Given the description of an element on the screen output the (x, y) to click on. 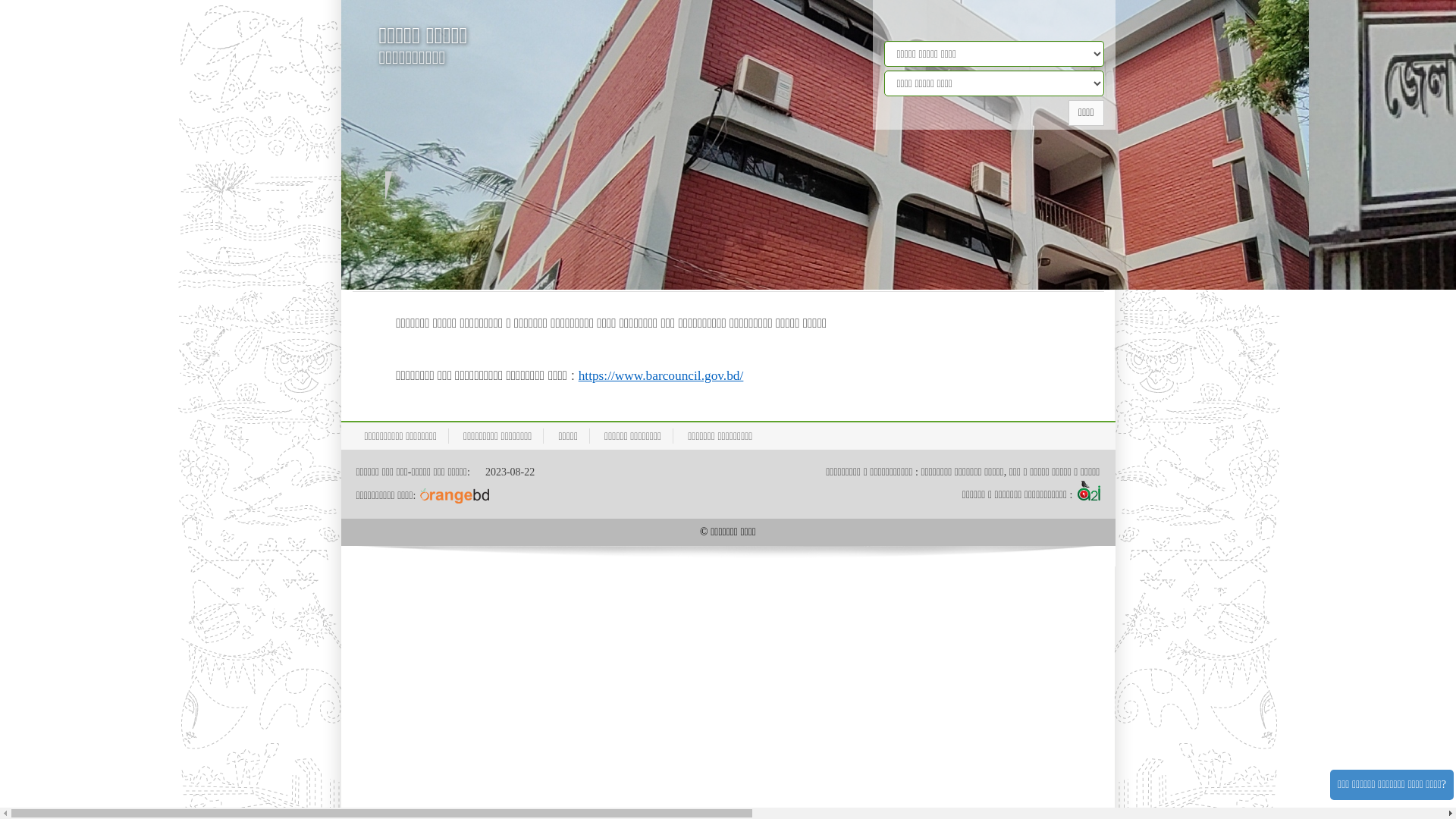
C Element type: text (528, 222)
C Element type: text (512, 222)
A Element type: text (415, 223)
A Element type: text (429, 221)
C Element type: text (545, 222)
Skip to main content Element type: text (0, 0)
C Element type: text (496, 222)
https://www.barcouncil.gov.bd/ Element type: text (660, 375)
A Element type: text (402, 224)
